Given the description of an element on the screen output the (x, y) to click on. 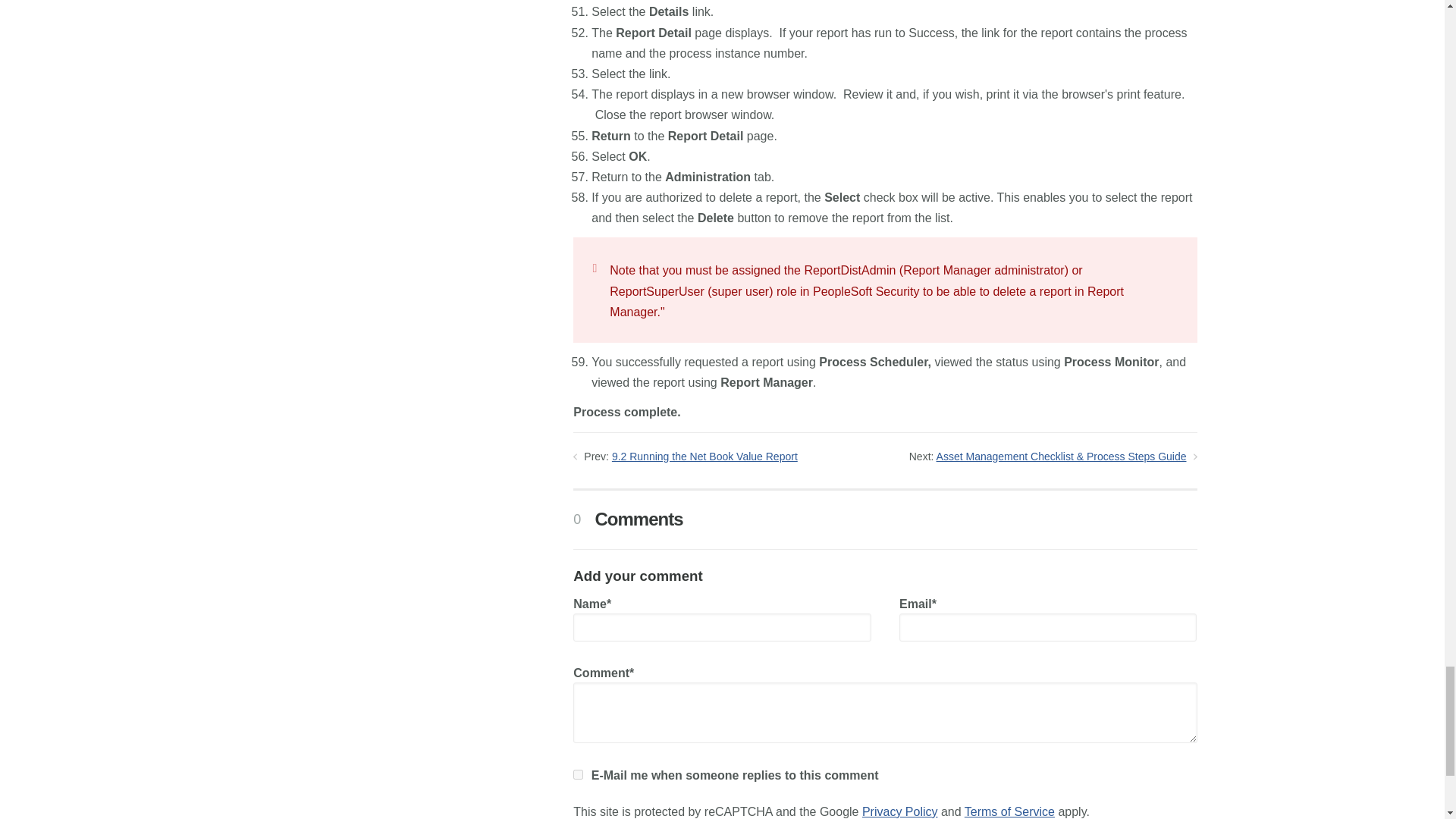
9.2 Running the Net Book Value Report (704, 456)
Terms of Service (1008, 811)
Privacy Policy (899, 811)
1 (578, 774)
